Given the description of an element on the screen output the (x, y) to click on. 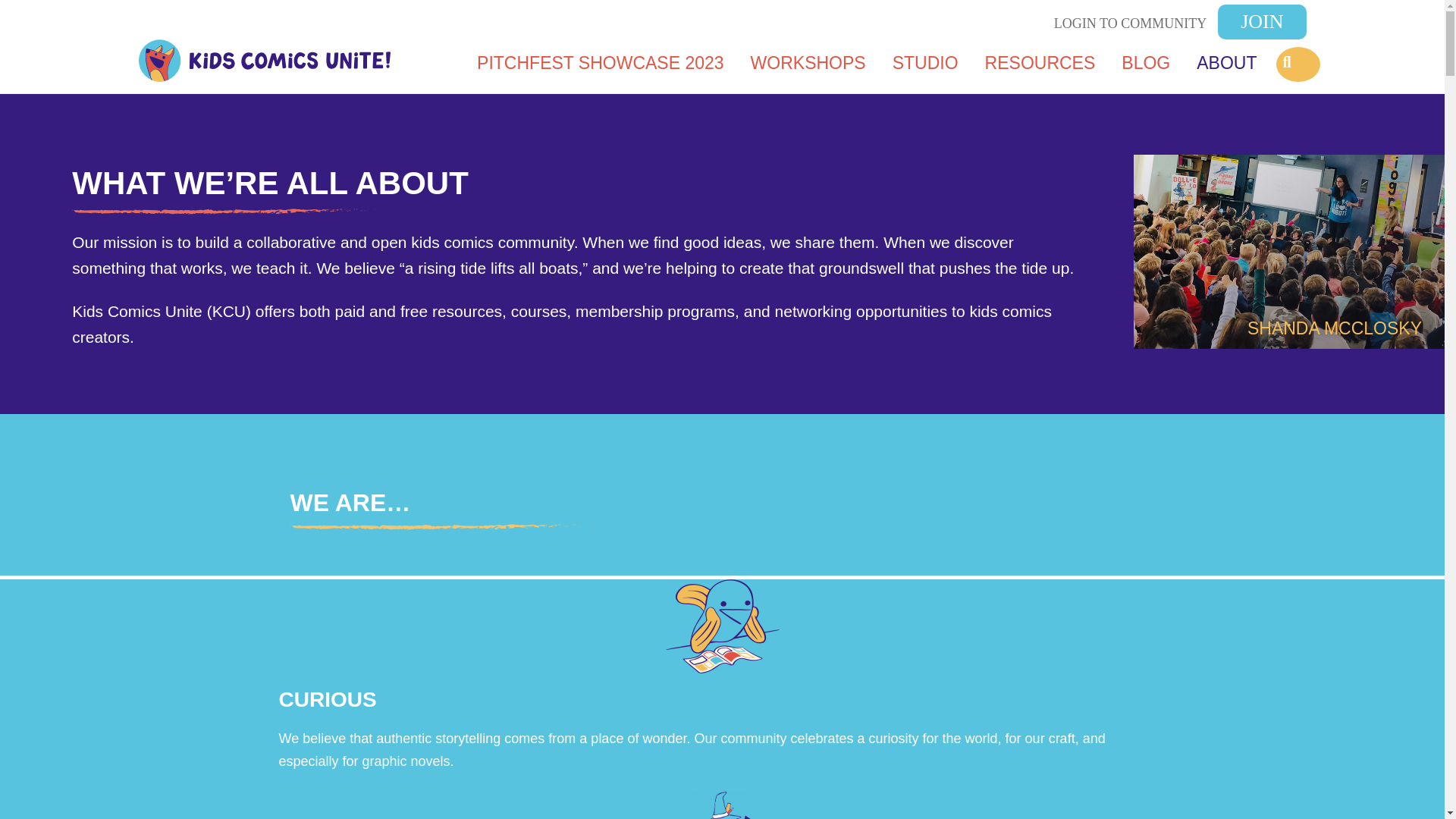
1 (1289, 325)
JOIN (1261, 21)
BLOG (1144, 62)
LOGIN TO COMMUNITY (1130, 24)
STUDIO (924, 62)
ABOUT (1226, 62)
RESOURCES (1040, 62)
PITCHFEST SHOWCASE 2023 (600, 62)
Search (113, 21)
WORKSHOPS (808, 62)
